Given the description of an element on the screen output the (x, y) to click on. 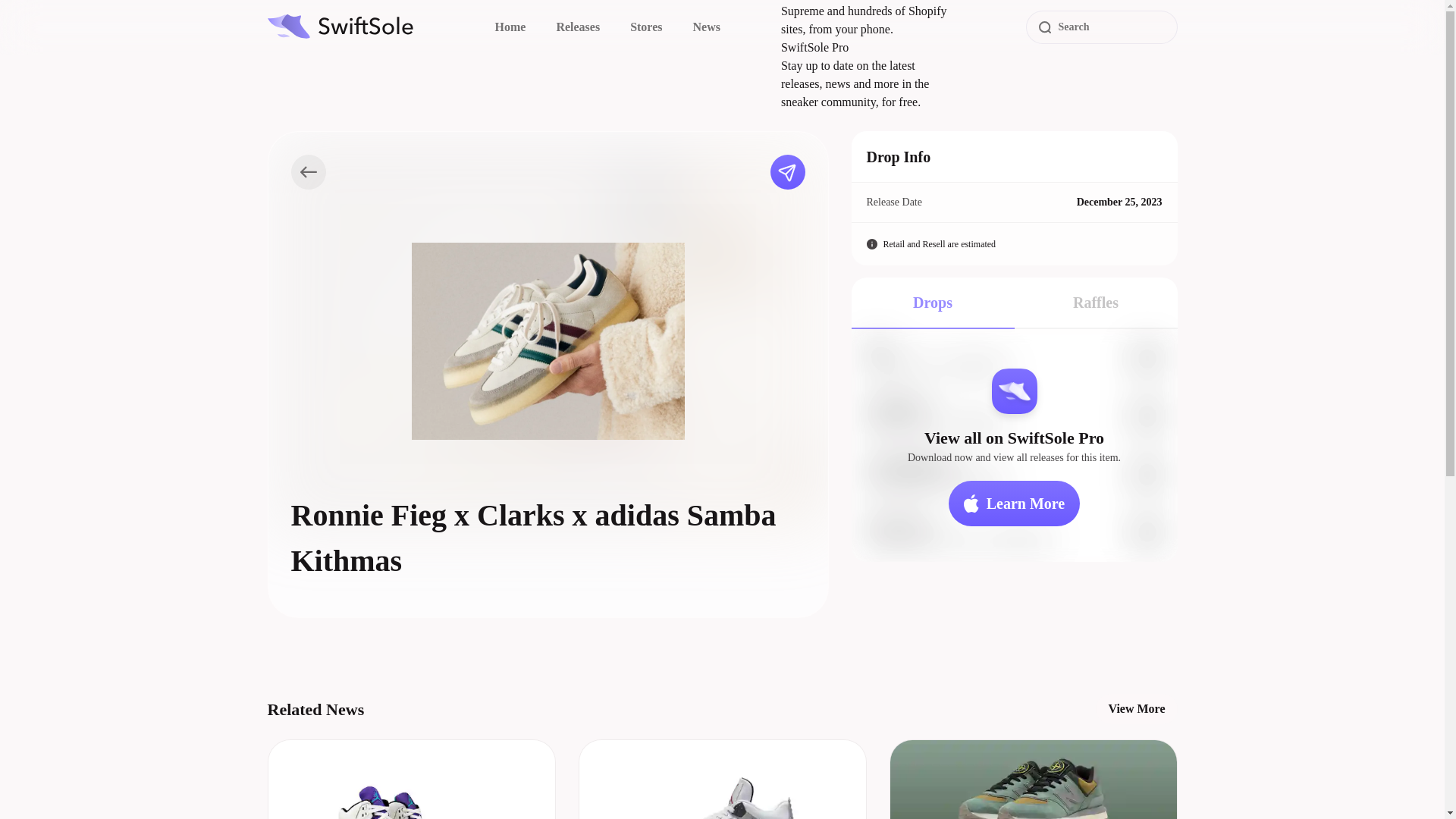
Stores (646, 26)
Drops (931, 303)
Releases (577, 26)
View More (1136, 708)
Raffles (1095, 303)
Search (1100, 27)
Learn More (1014, 503)
